Given the description of an element on the screen output the (x, y) to click on. 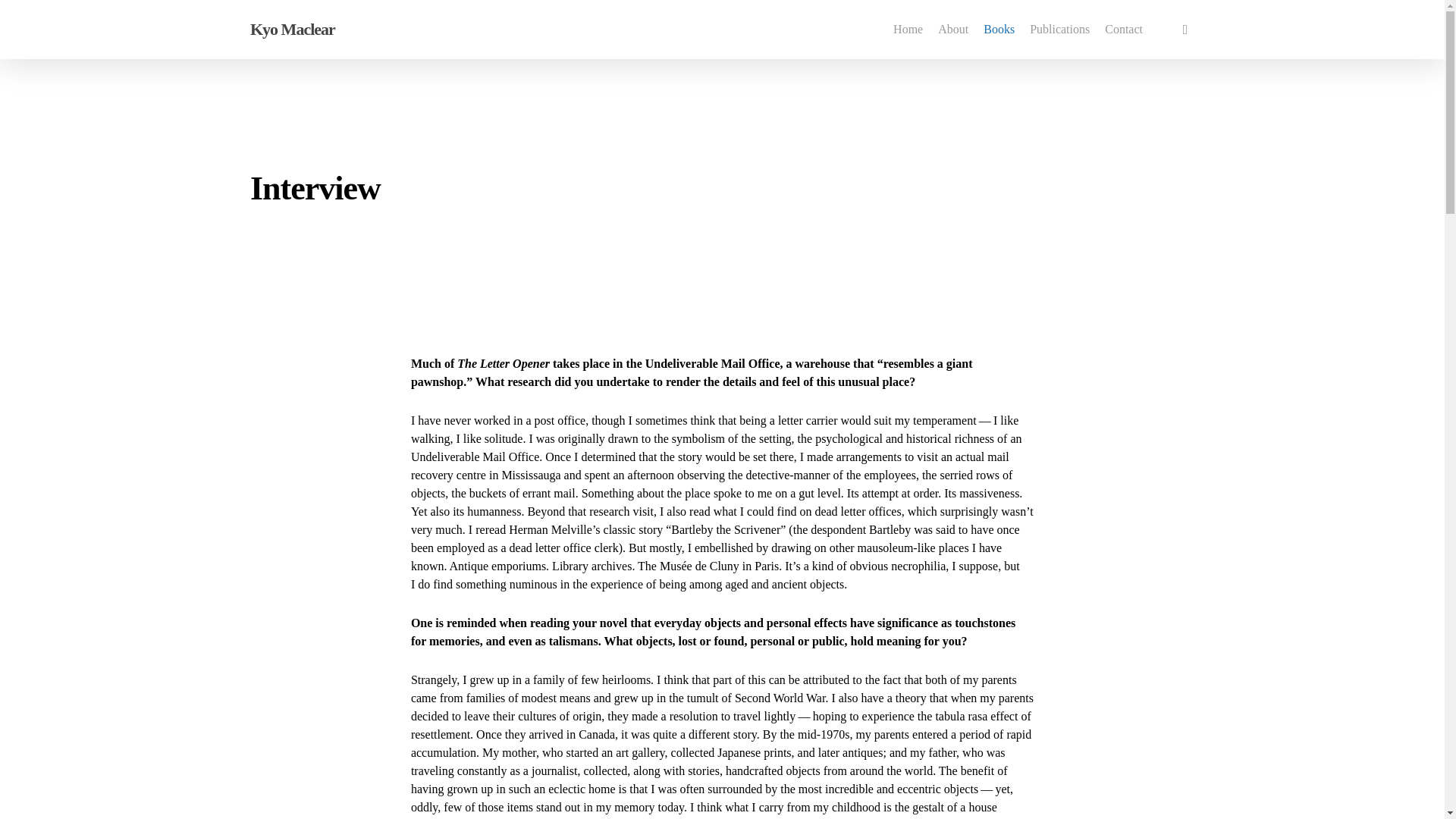
Kyo Maclear (292, 29)
Publications (1059, 29)
search (1184, 29)
Books (998, 29)
About (952, 29)
Contact (1123, 29)
Home (907, 29)
